Given the description of an element on the screen output the (x, y) to click on. 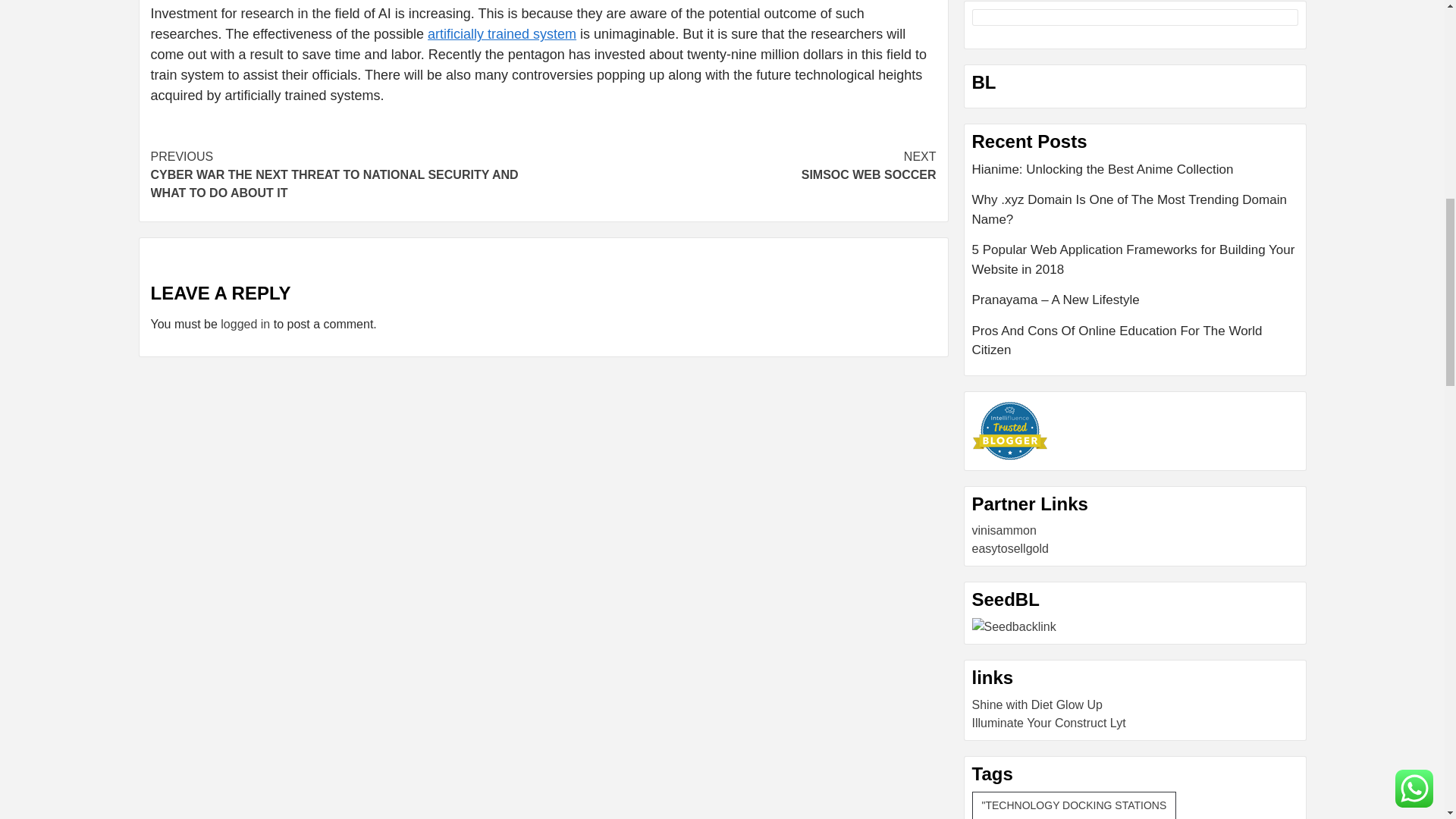
Hianime: Unlocking the Best Anime Collection (1135, 174)
Pros And Cons Of Online Education For The World Citizen (1135, 340)
artificially trained system (502, 33)
Why .xyz Domain Is One of The Most Trending Domain Name? (1135, 215)
vinisammon (1004, 530)
Illuminate Your Construct Lyt (1048, 721)
logged in (245, 323)
Seedbacklink (1014, 627)
